Given the description of an element on the screen output the (x, y) to click on. 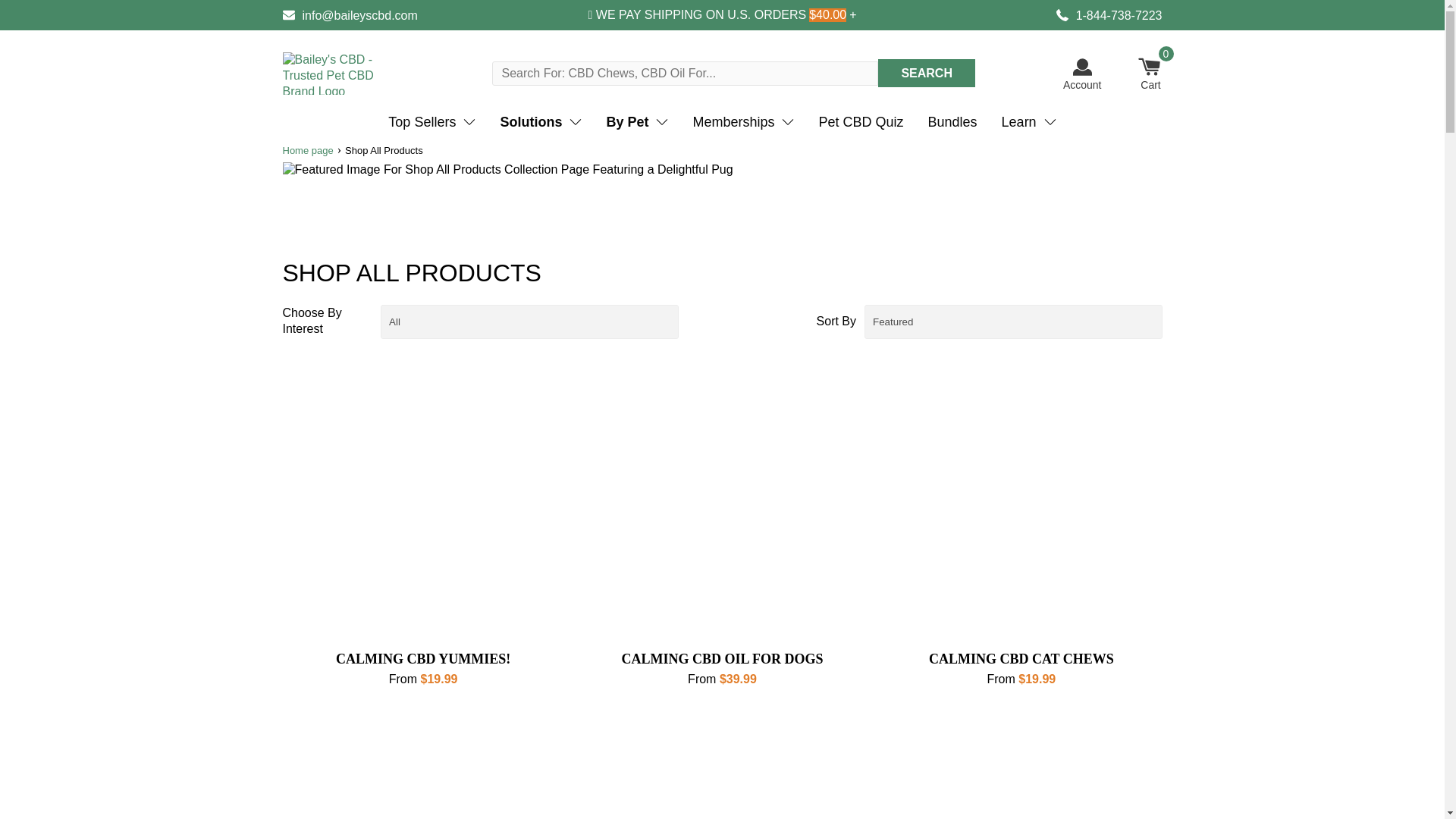
Top Sellers (431, 122)
Top sellers (431, 122)
Account (1082, 74)
Solutions (540, 122)
Account (1082, 74)
Memberships (742, 122)
By Pet (636, 122)
Solutions (540, 122)
Store Phone (1109, 15)
1-844-738-7223 (1109, 15)
